Given the description of an element on the screen output the (x, y) to click on. 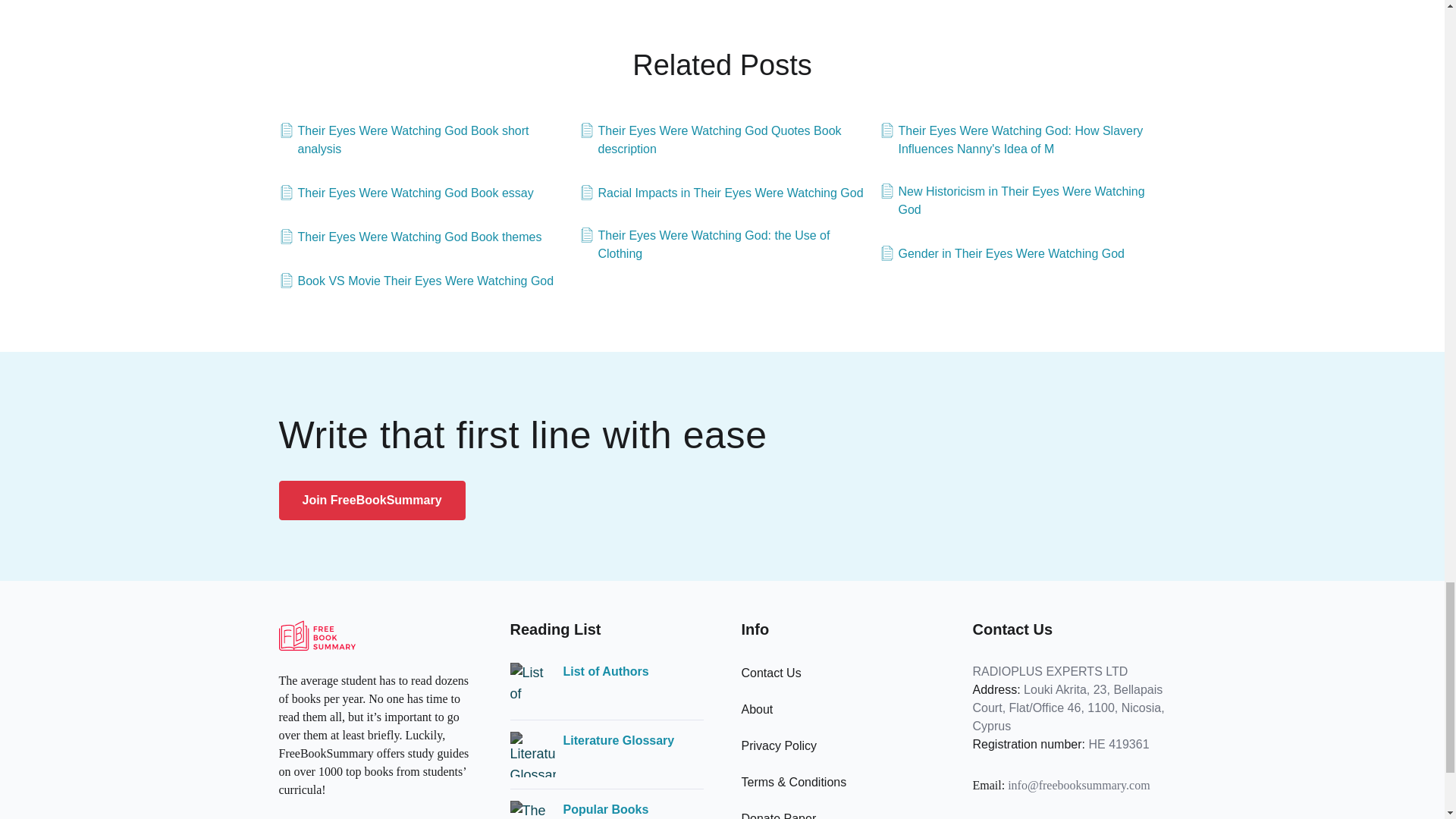
New Historicism in Their Eyes Were Watching God (1022, 200)
List of Authors (604, 671)
Their Eyes Were Watching God Book essay (406, 193)
Popular Books (604, 809)
Gender in Their Eyes Were Watching God (1002, 253)
Their Eyes Were Watching God Book themes (410, 237)
Their Eyes Were Watching God Quotes Book description (722, 140)
Literature Glossary (618, 741)
Their Eyes Were Watching God Book short analysis (422, 140)
Book VS Movie Their Eyes Were Watching God (416, 280)
Their Eyes Were Watching God: the Use of Clothing (722, 244)
Racial Impacts in Their Eyes Were Watching God (721, 193)
